Given the description of an element on the screen output the (x, y) to click on. 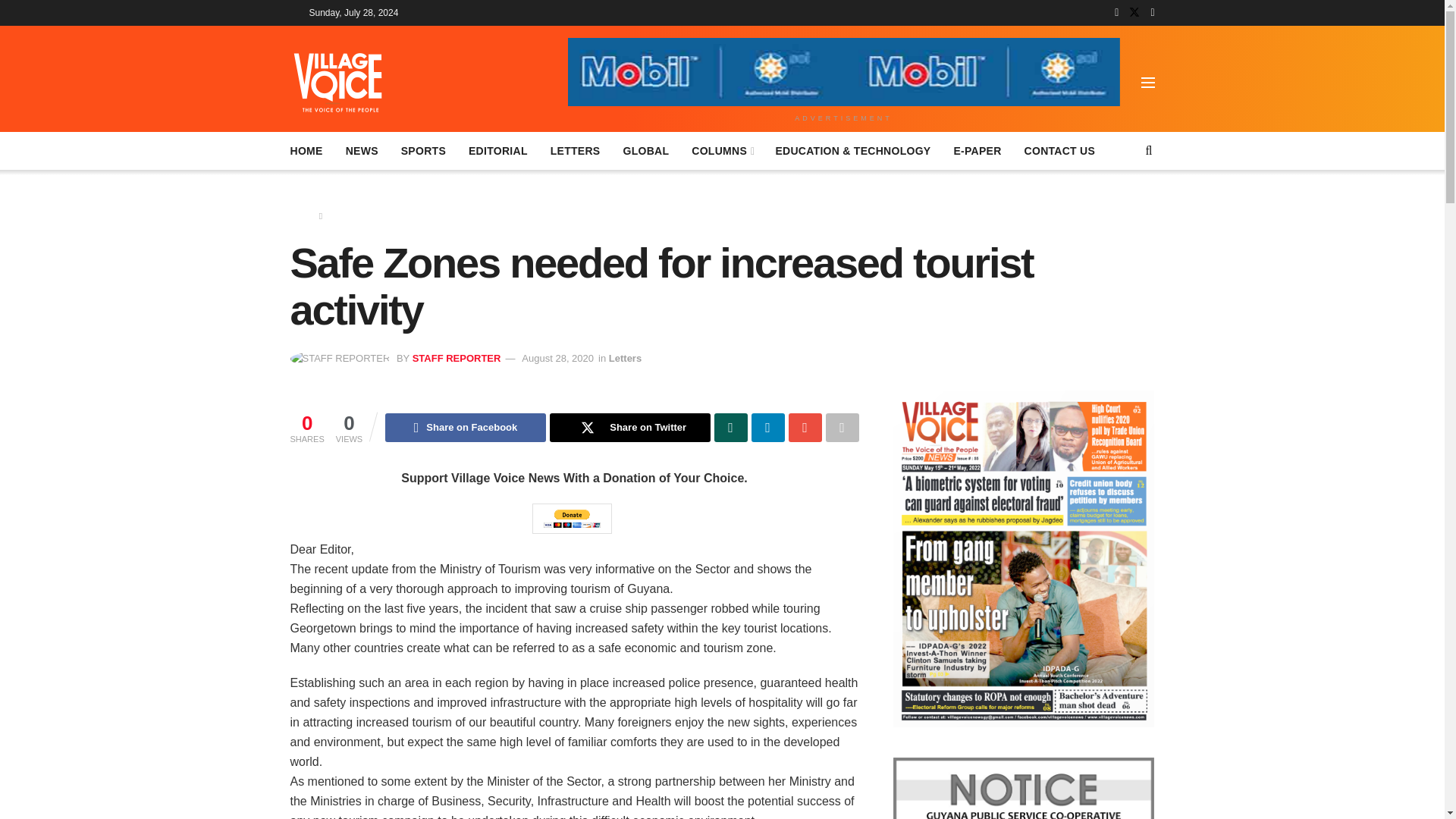
SPORTS (423, 150)
EDITORIAL (497, 150)
COLUMNS (721, 150)
E-PAPER (977, 150)
NEWS (362, 150)
PayPal - The safer, easier way to pay online! (571, 518)
CONTACT US (1060, 150)
GLOBAL (645, 150)
LETTERS (574, 150)
HOME (305, 150)
